Given the description of an element on the screen output the (x, y) to click on. 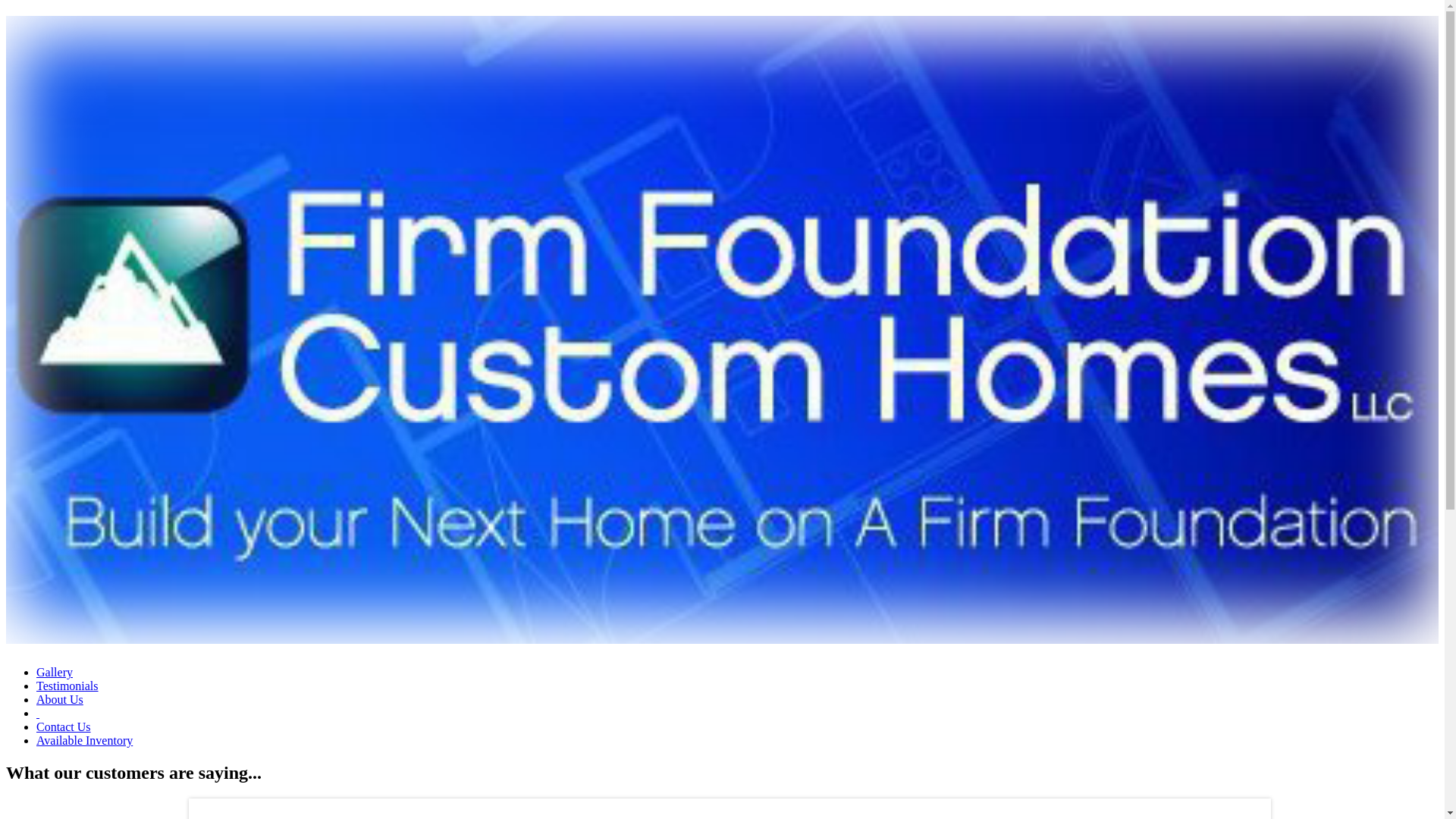
Testimonials (67, 685)
Available Inventory (84, 739)
Gallery (54, 671)
Contact Us (63, 726)
About Us (59, 698)
